Given the description of an element on the screen output the (x, y) to click on. 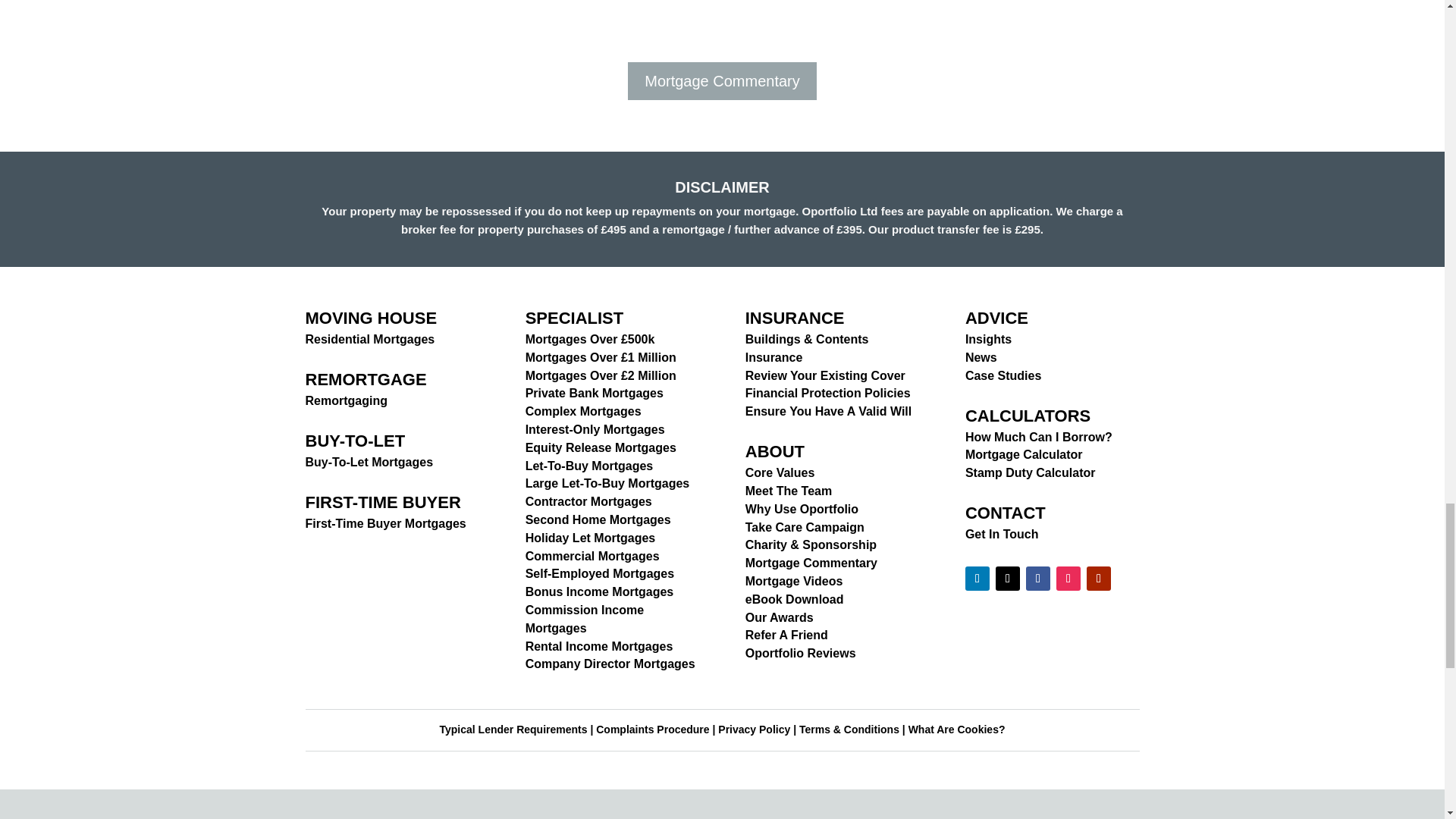
Follow on Youtube (1098, 578)
Follow on Facebook (1037, 578)
Follow on Instagram (1068, 578)
Follow on LinkedIn (977, 578)
Follow on X (1007, 578)
